Given the description of an element on the screen output the (x, y) to click on. 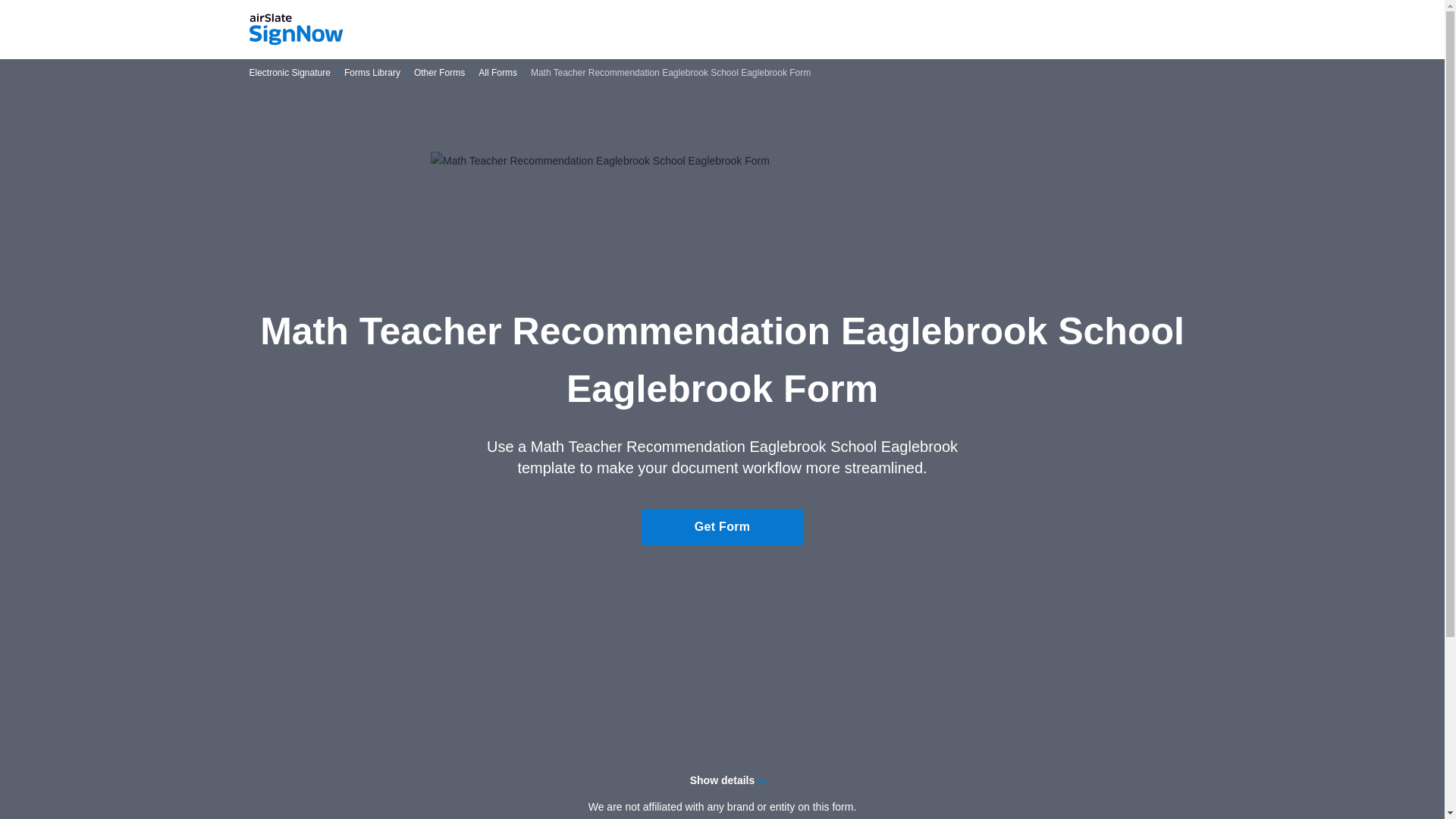
Other Forms (438, 73)
Forms Library (371, 73)
All Forms (497, 73)
signNow (295, 29)
Show details (722, 780)
Electronic Signature (289, 73)
Get Form (722, 526)
